Given the description of an element on the screen output the (x, y) to click on. 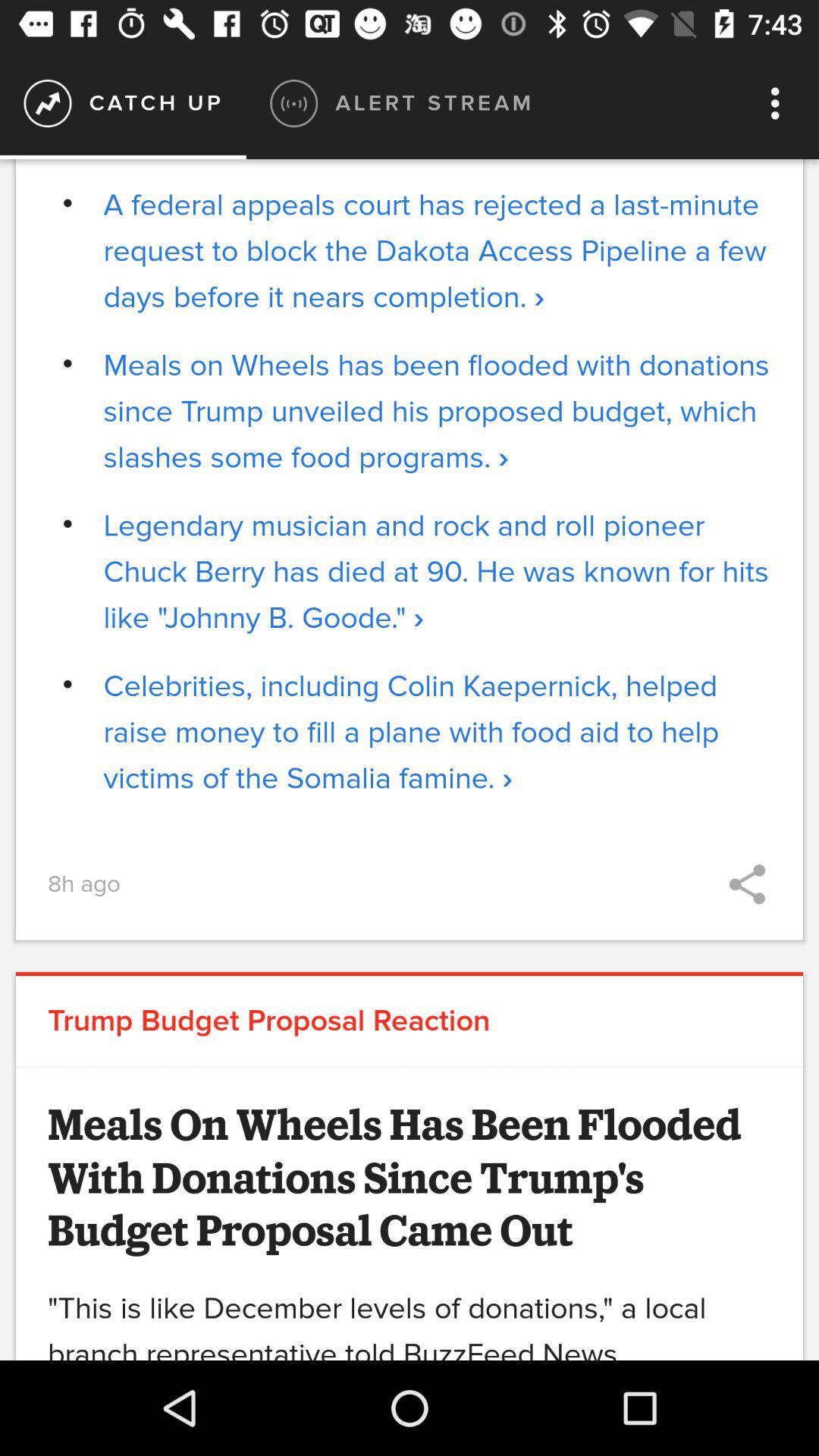
launch the icon at the top right corner (779, 103)
